Given the description of an element on the screen output the (x, y) to click on. 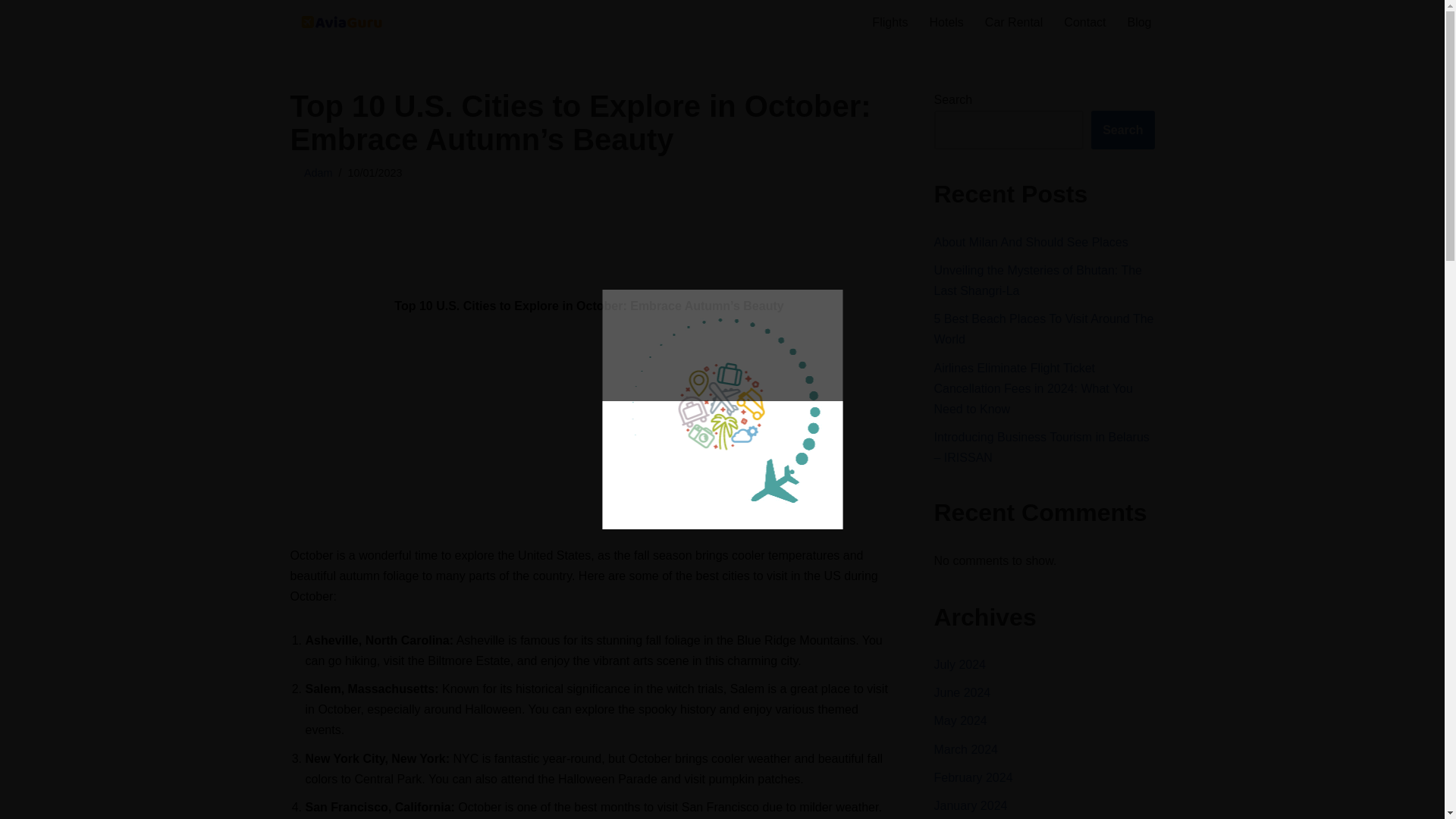
Contact (1084, 22)
May 2024 (960, 720)
March 2024 (966, 748)
Car Rental (1013, 22)
5 Best Beach Places To Visit Around The World (1044, 328)
Hotels (945, 22)
Flights (889, 22)
Posts by Adam (318, 173)
Adam (318, 173)
Blog (1138, 22)
Unveiling the Mysteries of Bhutan: The Last Shangri-La (1038, 280)
February 2024 (973, 777)
Skip to content (11, 31)
Search (1122, 129)
